Given the description of an element on the screen output the (x, y) to click on. 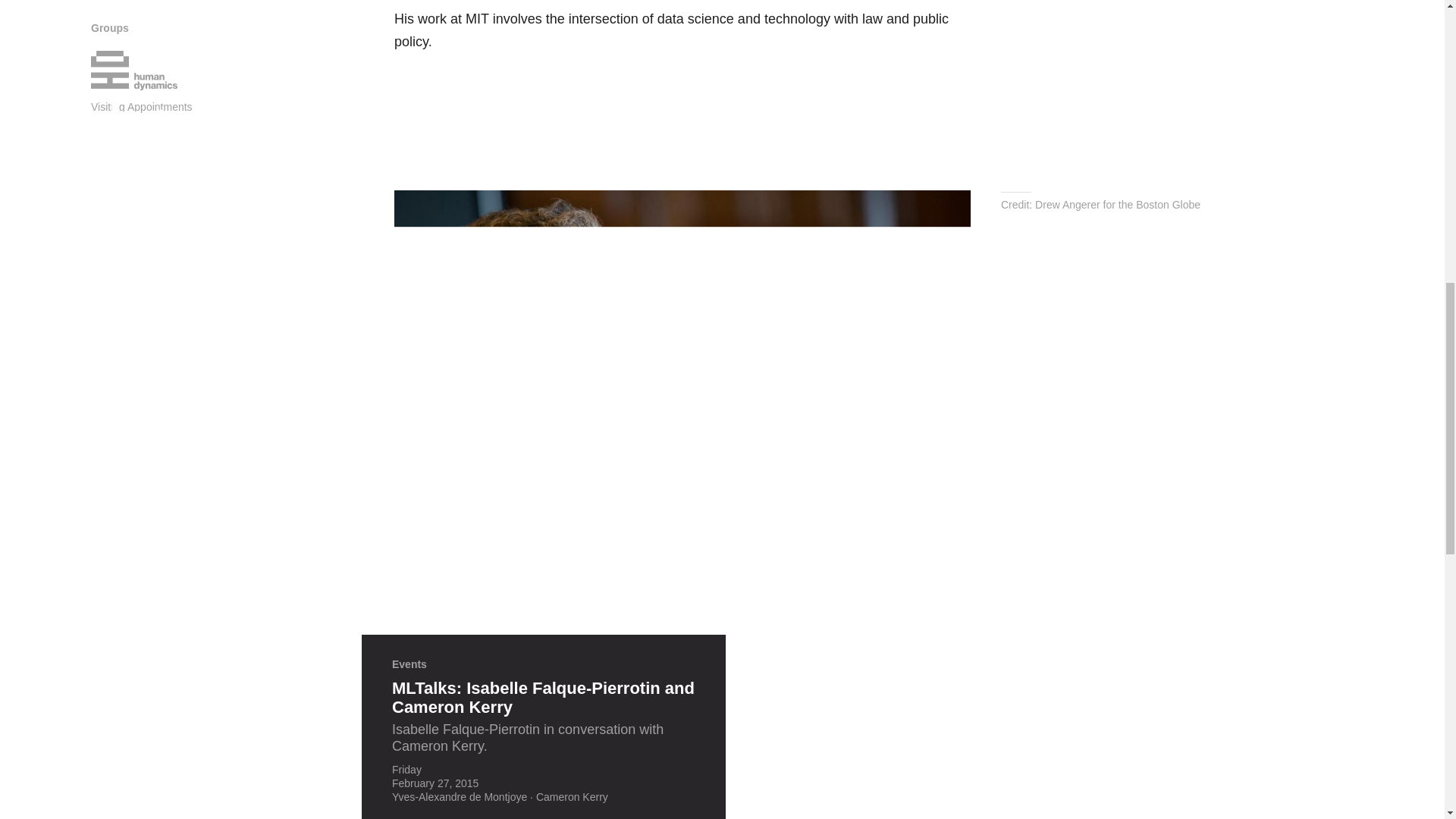
Yves-Alexandre de Montjoye (459, 797)
Visiting Appointments (141, 106)
Cameron Kerry (571, 797)
